Given the description of an element on the screen output the (x, y) to click on. 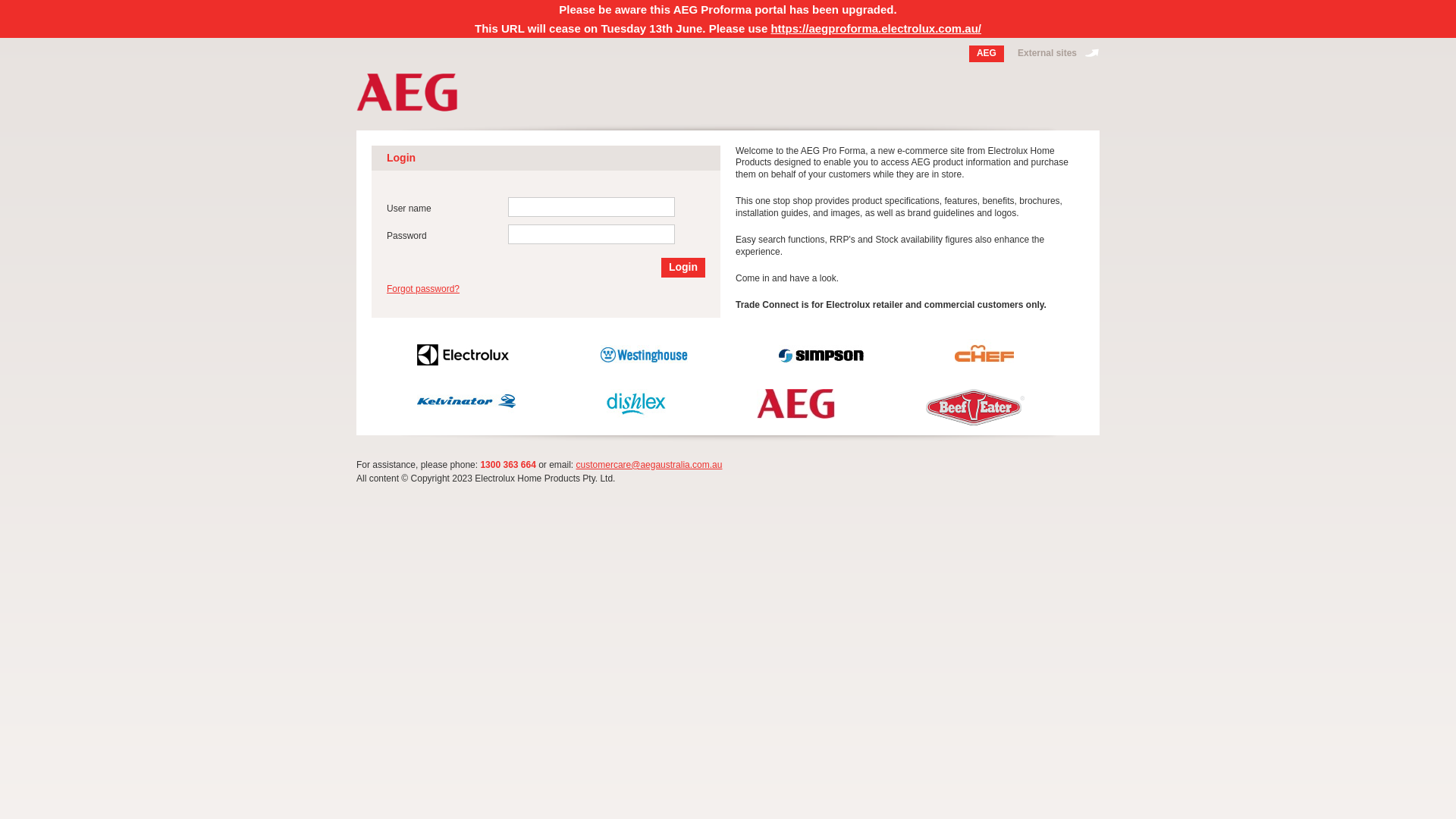
AEG Element type: text (986, 53)
https://aegproforma.electrolux.com.au/ Element type: text (875, 27)
customercare@aegaustralia.com.au Element type: text (649, 464)
Forgot password? Element type: text (422, 288)
External sites Element type: text (1054, 53)
Login Element type: text (683, 267)
